Given the description of an element on the screen output the (x, y) to click on. 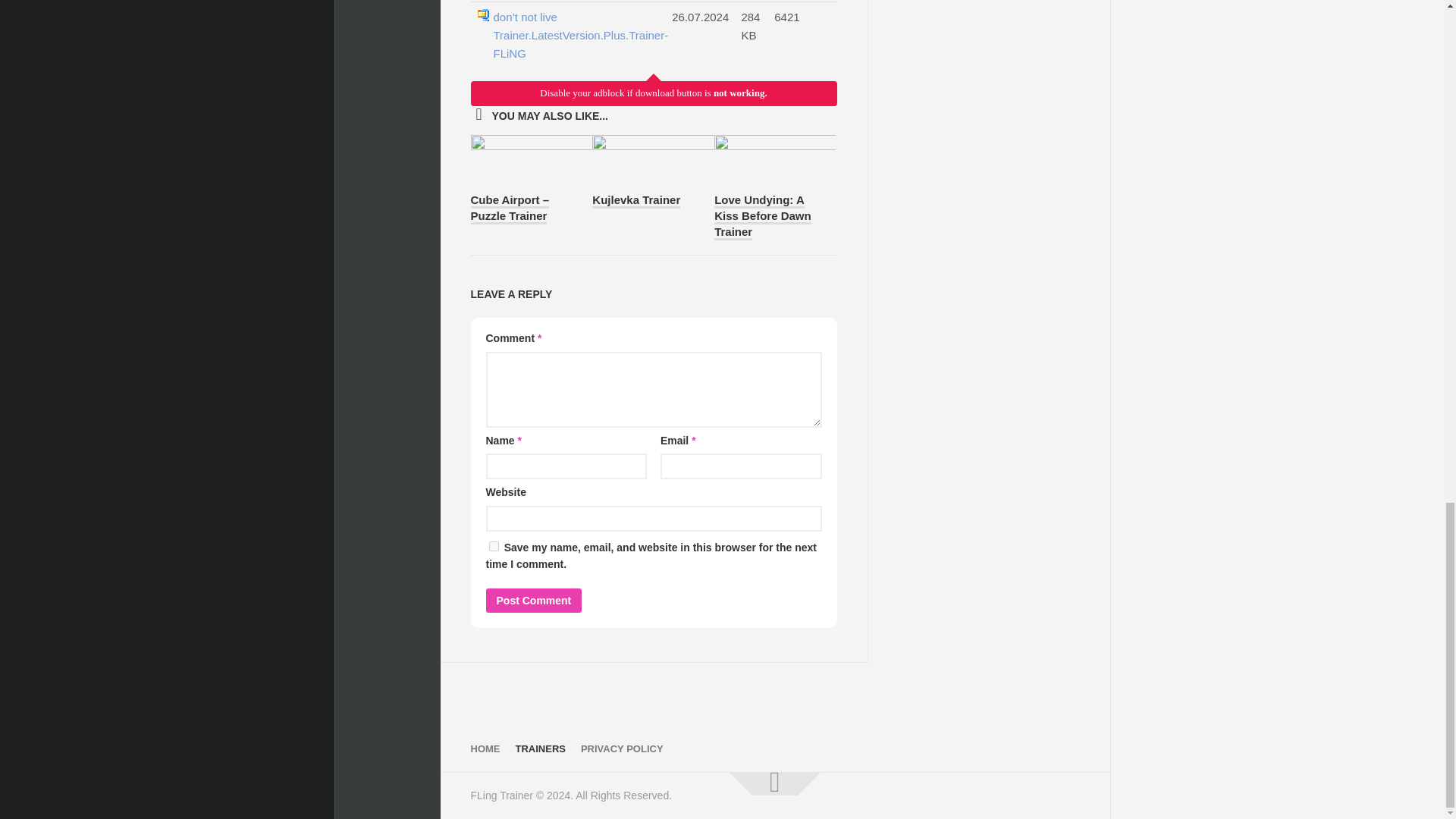
Kujlevka Trainer (635, 200)
Post Comment (532, 600)
yes (492, 546)
Post Comment (532, 600)
Love Undying: A Kiss Before Dawn Trainer (762, 216)
